Given the description of an element on the screen output the (x, y) to click on. 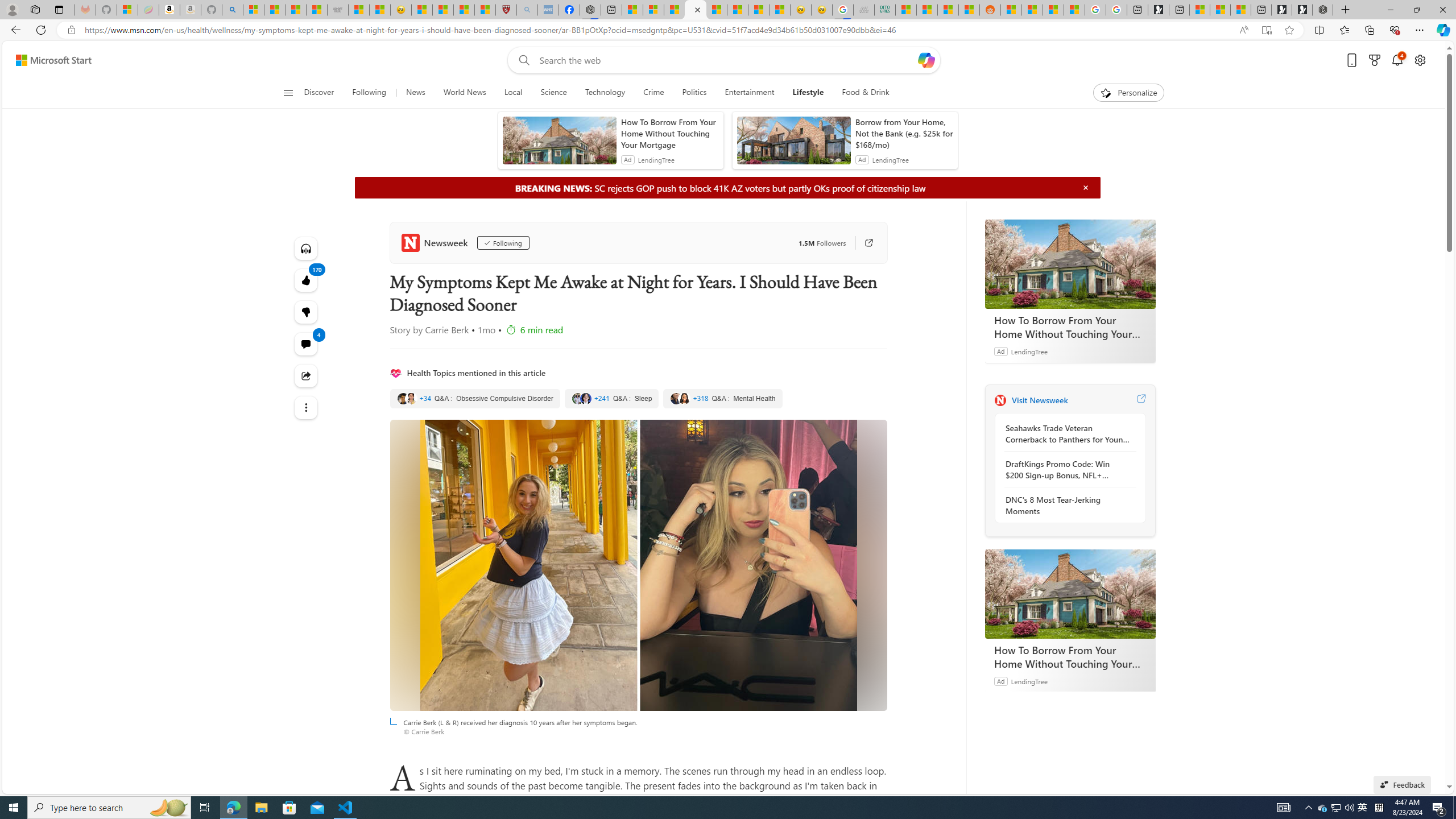
View comments 4 Comment (305, 343)
R******* | Trusted Community Engagement and Contributions (1010, 9)
